Given the description of an element on the screen output the (x, y) to click on. 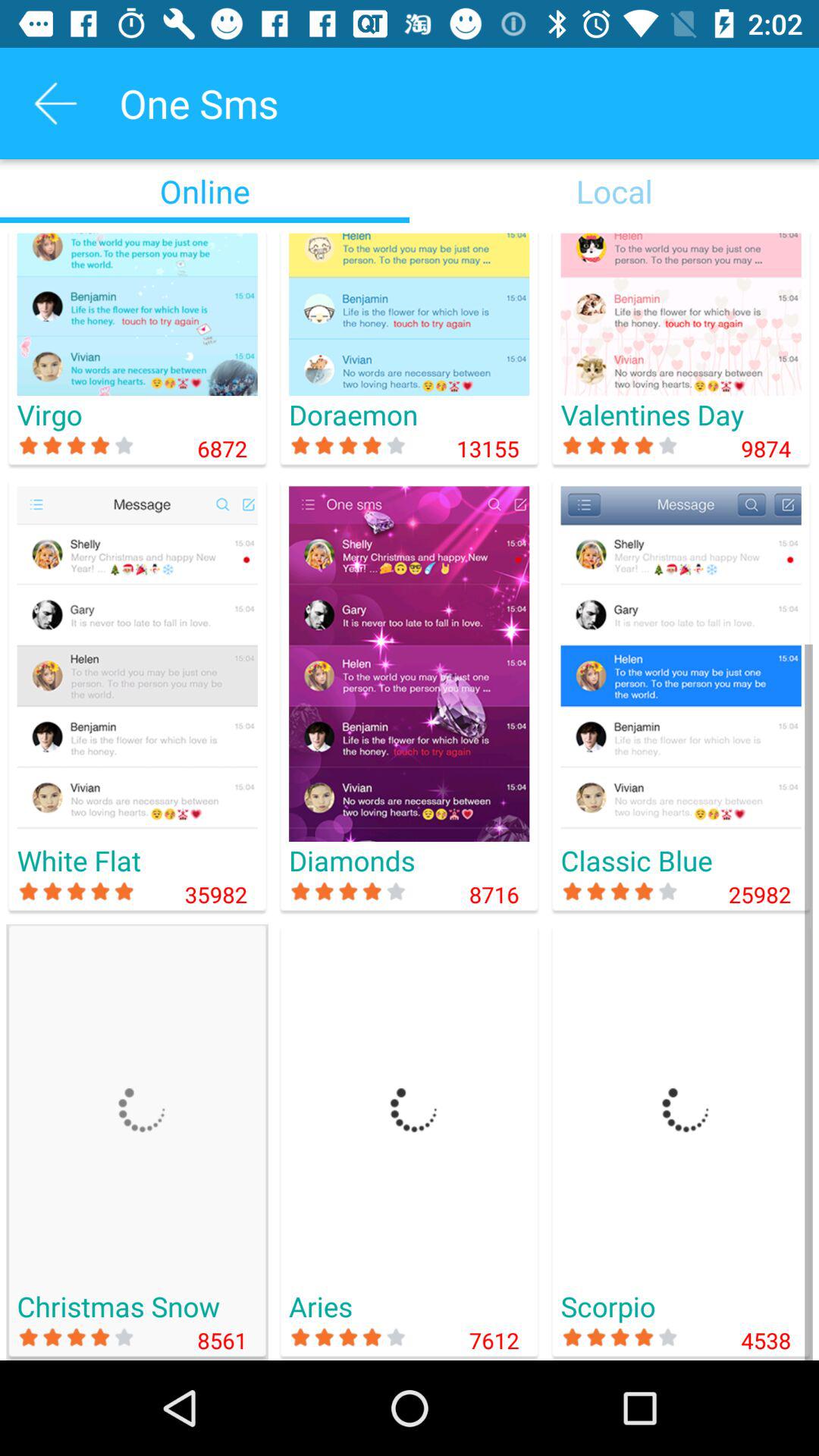
turn off app to the left of one sms icon (55, 103)
